Given the description of an element on the screen output the (x, y) to click on. 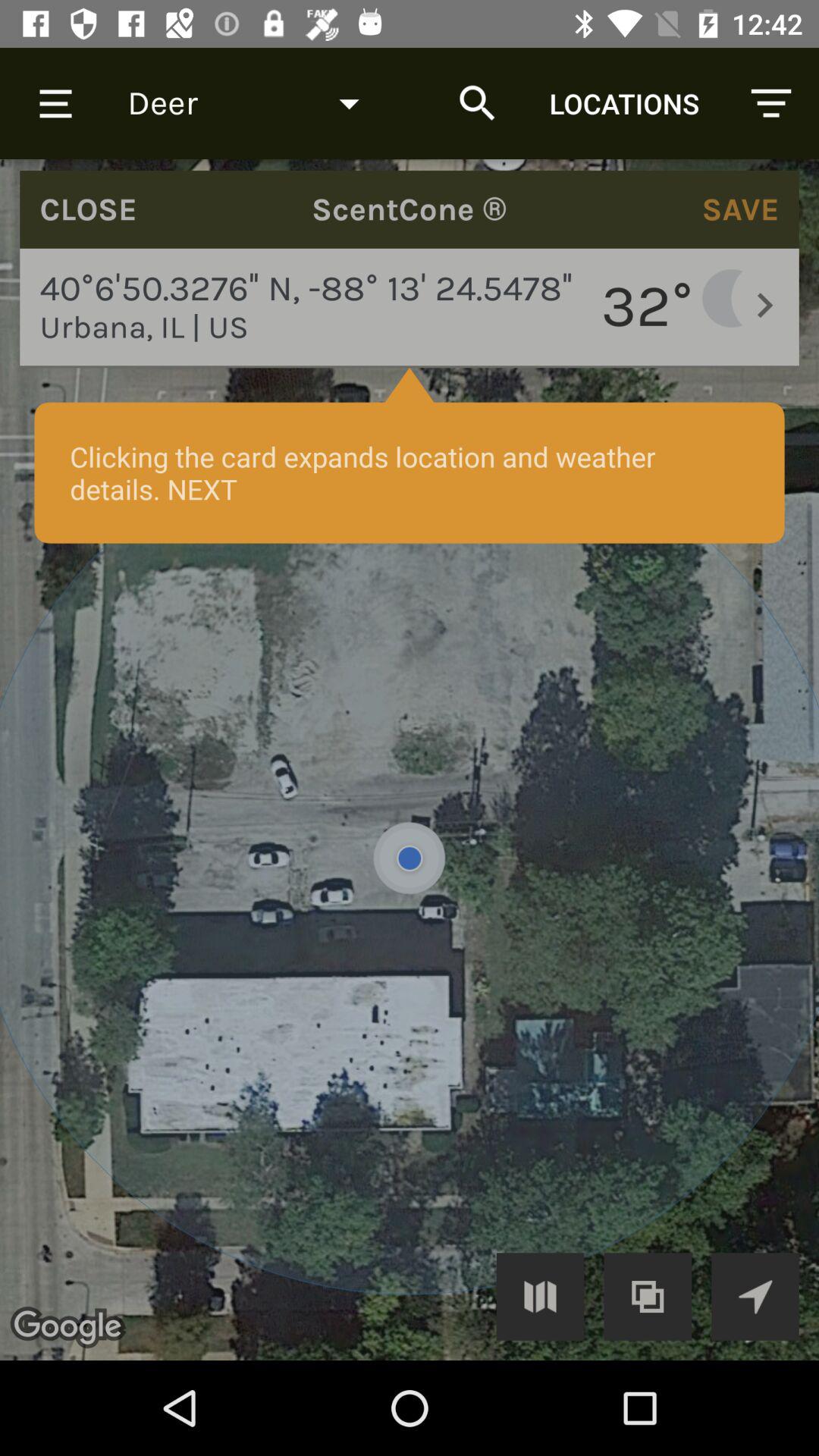
aeroplan (755, 1296)
